Given the description of an element on the screen output the (x, y) to click on. 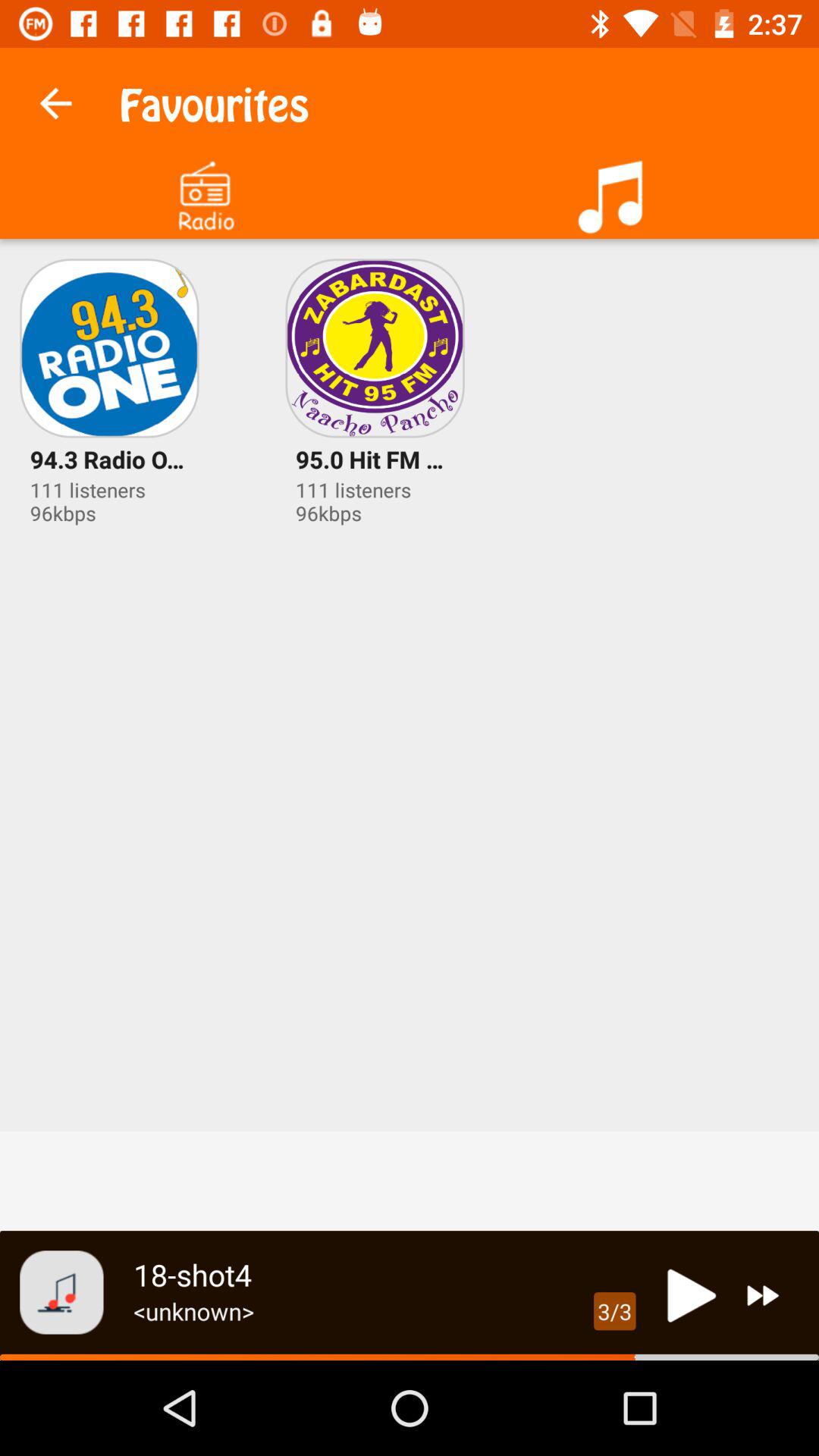
click radio option (204, 190)
